Given the description of an element on the screen output the (x, y) to click on. 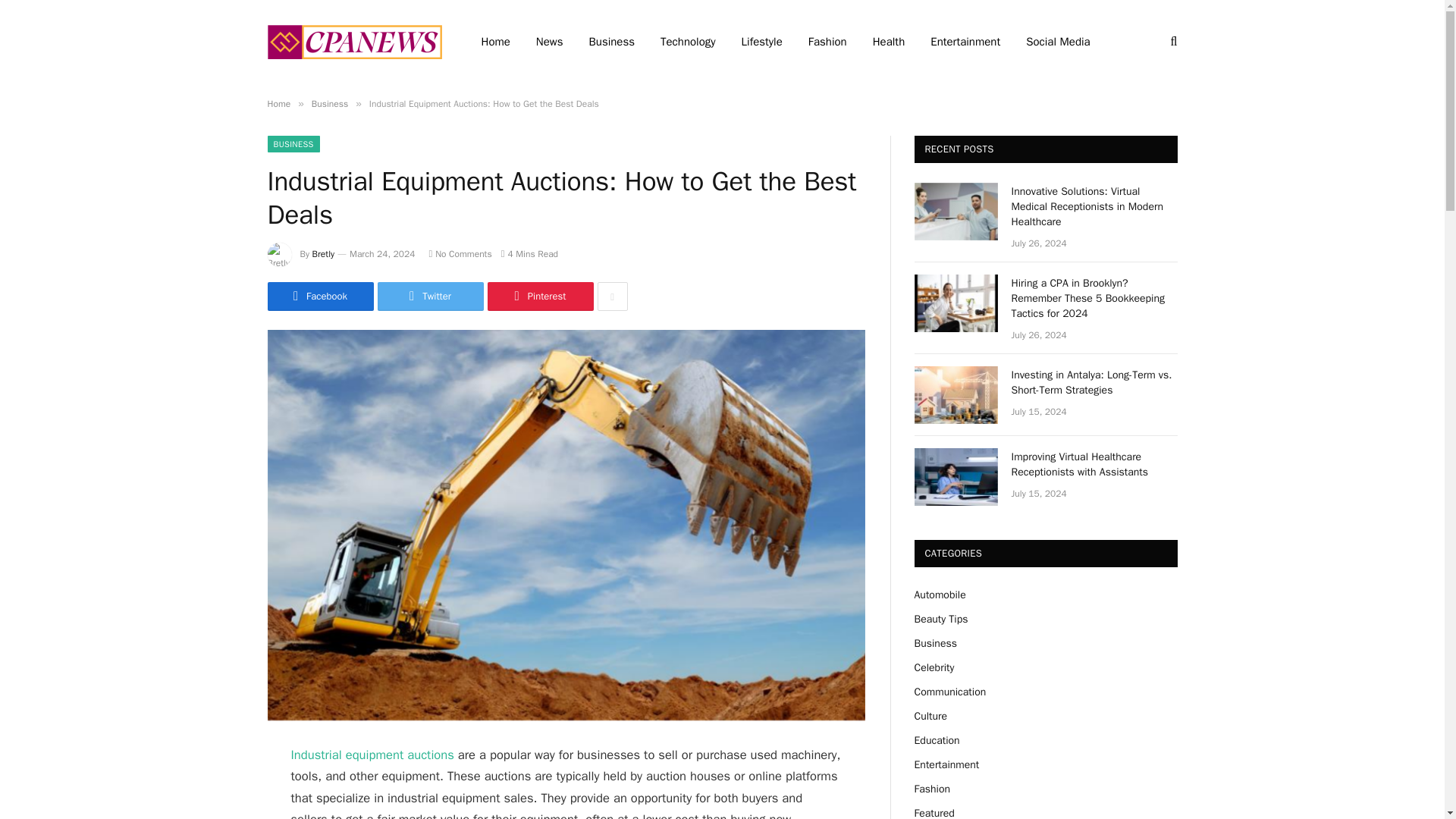
Social Media (1057, 41)
Entertainment (965, 41)
No Comments (460, 254)
Facebook (319, 296)
Share on Twitter (430, 296)
Business (329, 103)
Twitter (430, 296)
Posts by Bretly (323, 254)
Industrial equipment auctions (372, 754)
Technology (688, 41)
BUSINESS (292, 143)
Share on Pinterest (539, 296)
Bretly (323, 254)
Cpanews.net (353, 41)
Show More Social Sharing (611, 296)
